Given the description of an element on the screen output the (x, y) to click on. 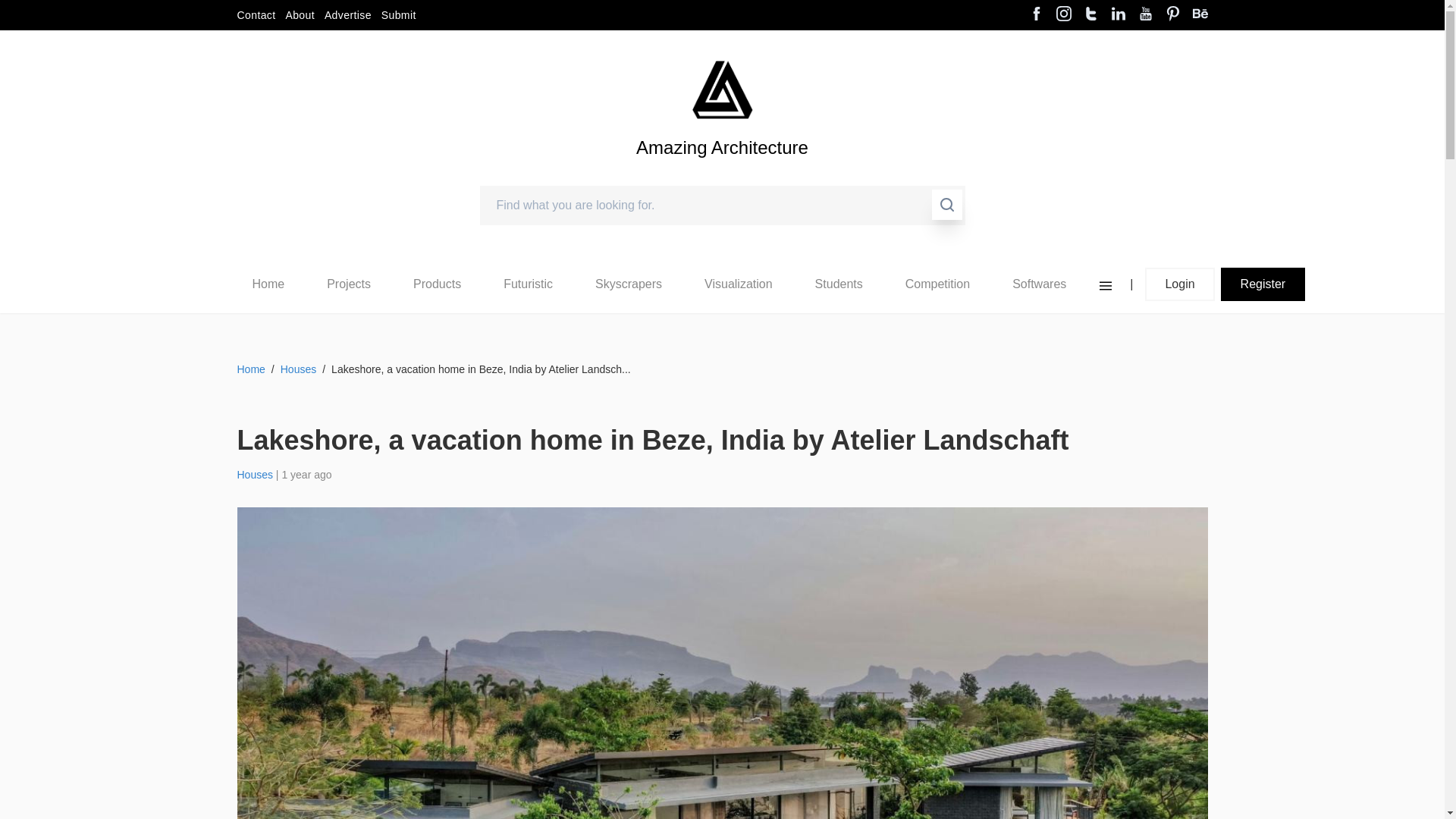
Amazing Architecture (721, 88)
follow us on pinterest (1171, 14)
Projects (348, 283)
follow us on linkedin (1117, 14)
Projects (348, 284)
Amazing Architecture (722, 173)
Home (267, 283)
follow us on twitter (1090, 14)
subscribe to our youtube channel (1145, 14)
Submit (398, 15)
Amazing Architecture (722, 173)
Advertisement page (347, 15)
Contact us page (255, 15)
Contact (255, 15)
Skyscrapers (628, 283)
